Given the description of an element on the screen output the (x, y) to click on. 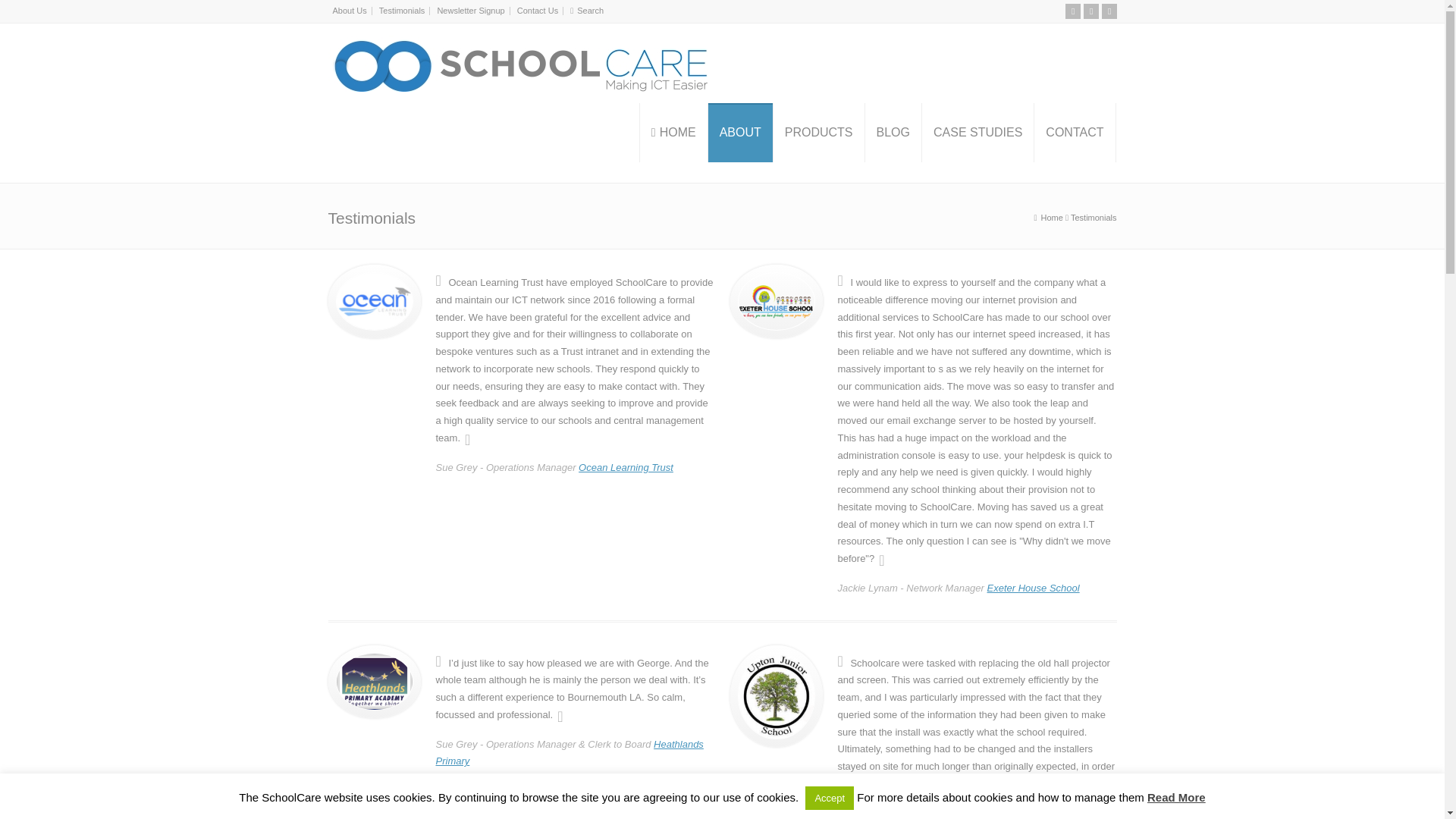
Contact Us (536, 10)
Ocean Learning Trust (625, 466)
Linkedin (1108, 11)
Exeter House School (1033, 587)
Facebook (1090, 11)
About Us (348, 10)
PRODUCTS (818, 132)
Newsletter Signup (469, 10)
Twitter (1072, 11)
Heathlands Primary (569, 752)
ABOUT (740, 132)
HOME (673, 132)
SchoolCare (516, 63)
Testimonials (401, 10)
